Given the description of an element on the screen output the (x, y) to click on. 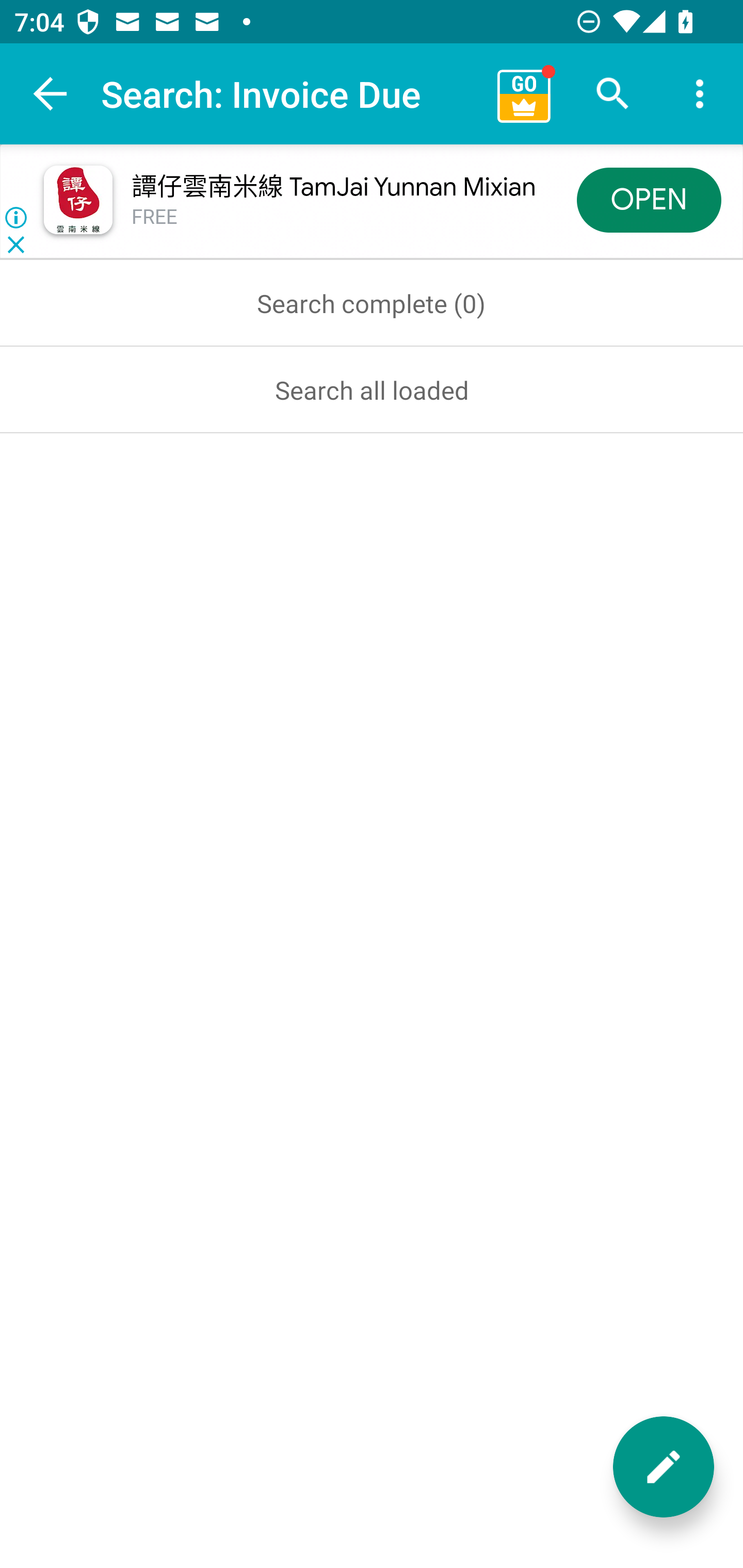
Navigate up (50, 93)
Search (612, 93)
More options (699, 93)
OPEN (648, 199)
譚仔雲南米線 TamJai Yunnan Mixian (333, 186)
FREE (154, 216)
Search complete (0) (371, 303)
Search all loaded (371, 389)
New message (663, 1466)
